Given the description of an element on the screen output the (x, y) to click on. 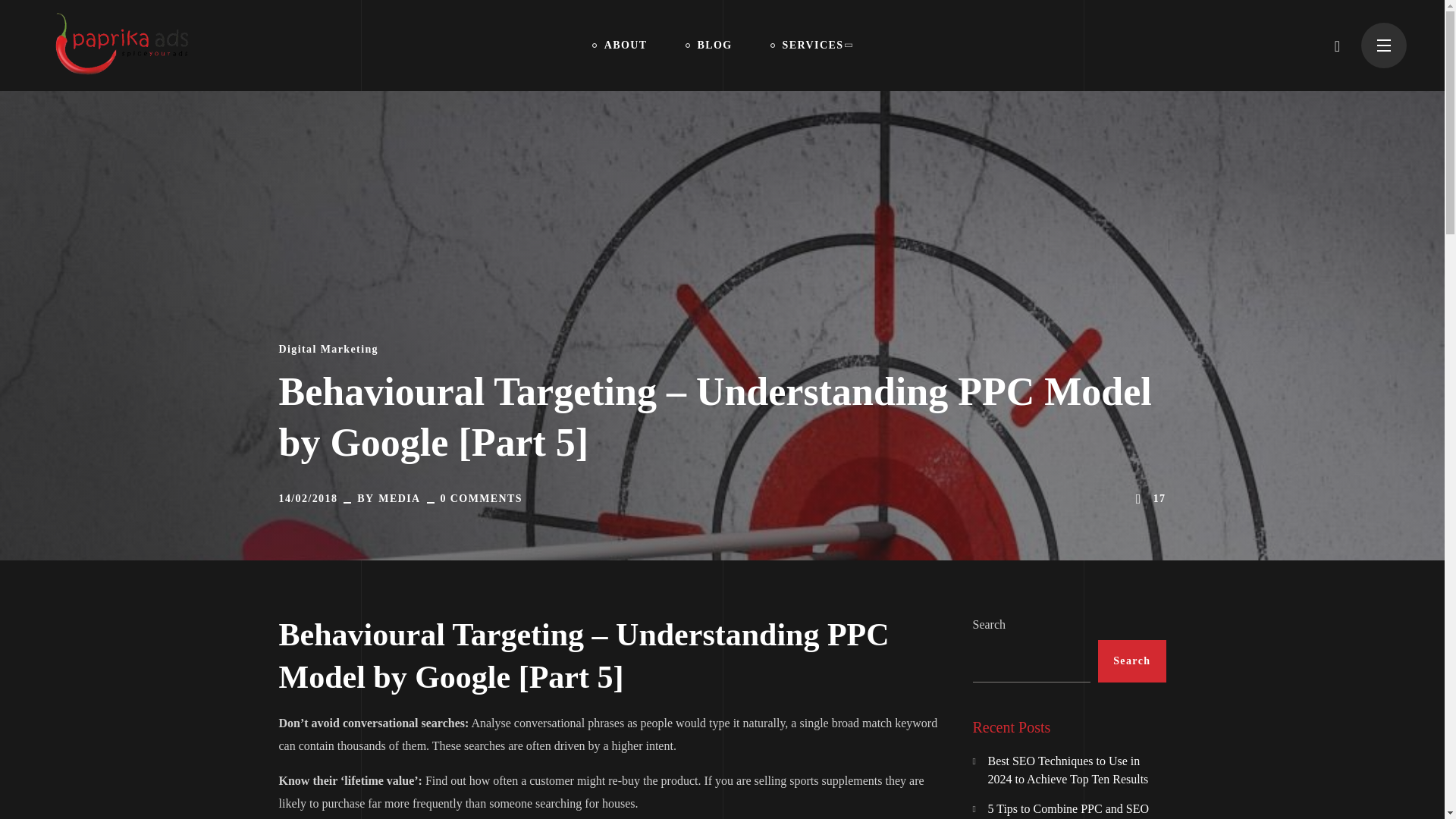
ABOUT (619, 45)
Leave a reply (481, 498)
BLOG (708, 45)
SERVICES (811, 45)
Like (1149, 498)
